Given the description of an element on the screen output the (x, y) to click on. 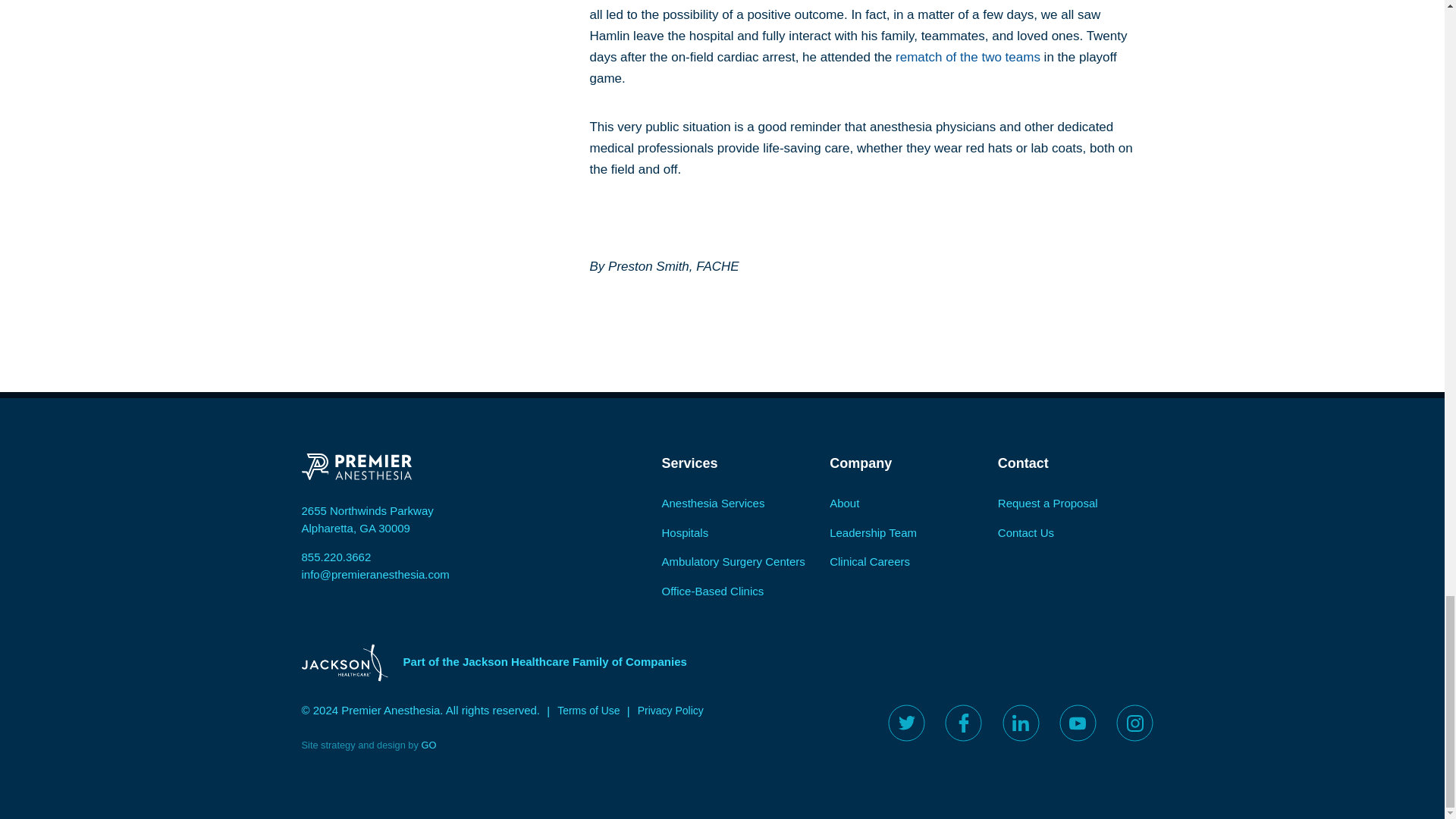
circle (1077, 723)
circle (962, 723)
circle (1021, 723)
circle (906, 723)
circle (1134, 723)
